Given the description of an element on the screen output the (x, y) to click on. 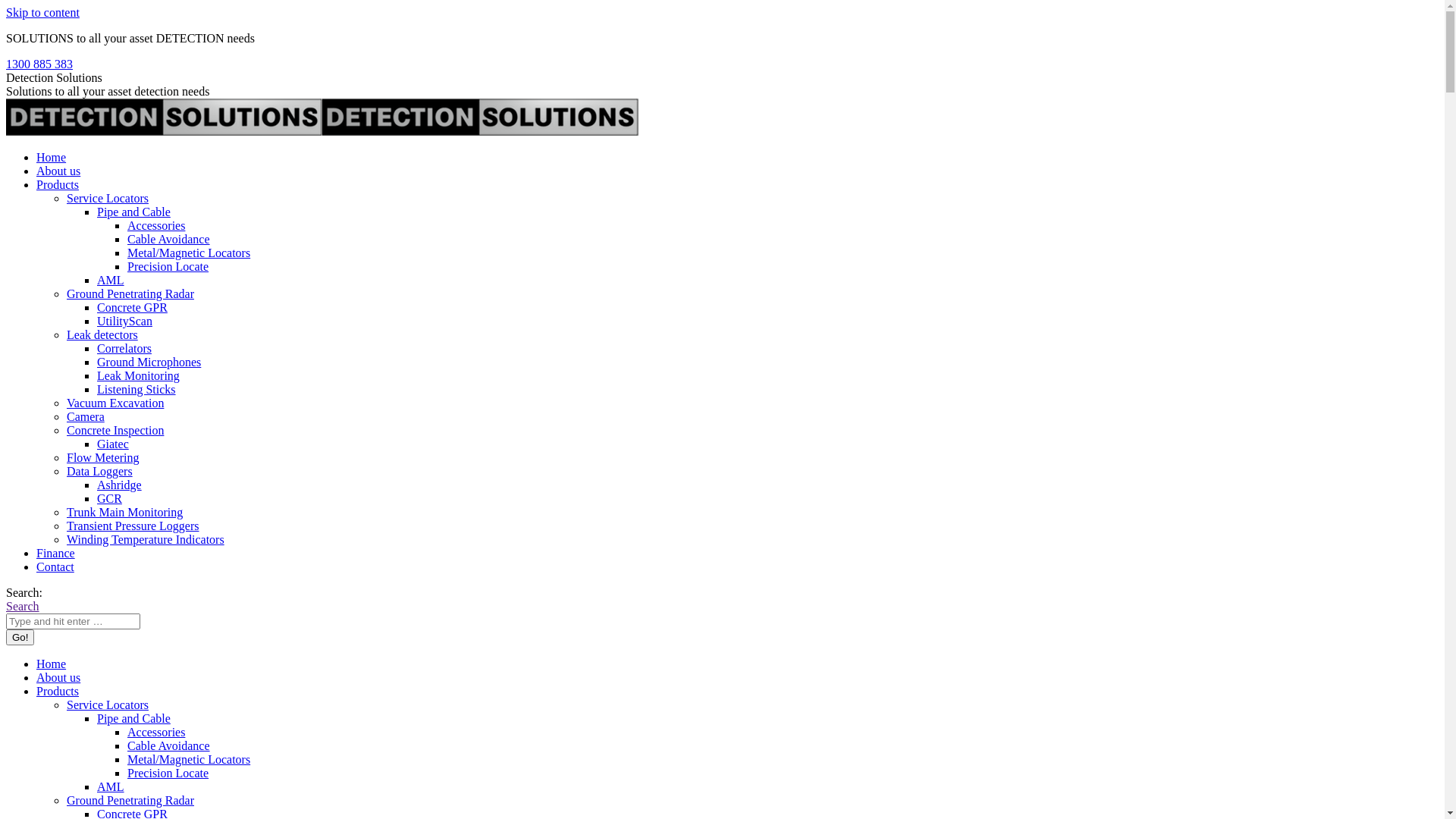
About us Element type: text (58, 677)
Vacuum Excavation Element type: text (114, 402)
Products Element type: text (57, 690)
Products Element type: text (57, 184)
About us Element type: text (58, 170)
Winding Temperature Indicators Element type: text (145, 539)
Metal/Magnetic Locators Element type: text (188, 759)
Transient Pressure Loggers Element type: text (132, 525)
Correlators Element type: text (124, 348)
Leak detectors Element type: text (102, 334)
Concrete GPR Element type: text (132, 307)
Concrete Inspection Element type: text (114, 429)
Search form Element type: hover (73, 621)
Pipe and Cable Element type: text (133, 211)
Contact Element type: text (55, 566)
Search Element type: text (22, 605)
Skip to content Element type: text (42, 12)
Data Loggers Element type: text (99, 470)
Ashridge Element type: text (119, 484)
Pipe and Cable Element type: text (133, 718)
1300 885 383 Element type: text (39, 63)
Service Locators Element type: text (107, 704)
Leak Monitoring Element type: text (138, 375)
AML Element type: text (110, 279)
Cable Avoidance Element type: text (168, 238)
AML Element type: text (110, 786)
Flow Metering Element type: text (102, 457)
UtilityScan Element type: text (124, 320)
Ground Penetrating Radar Element type: text (130, 799)
Ground Microphones Element type: text (148, 361)
Accessories Element type: text (156, 225)
GCR Element type: text (109, 498)
Trunk Main Monitoring Element type: text (124, 511)
Precision Locate Element type: text (167, 772)
Finance Element type: text (55, 552)
Giatec Element type: text (112, 443)
Service Locators Element type: text (107, 197)
Camera Element type: text (85, 416)
Home Element type: text (50, 156)
Cable Avoidance Element type: text (168, 745)
Precision Locate Element type: text (167, 266)
Ground Penetrating Radar Element type: text (130, 293)
Listening Sticks Element type: text (136, 388)
Metal/Magnetic Locators Element type: text (188, 252)
Home Element type: text (50, 663)
Accessories Element type: text (156, 731)
Go! Element type: text (20, 637)
